Given the description of an element on the screen output the (x, y) to click on. 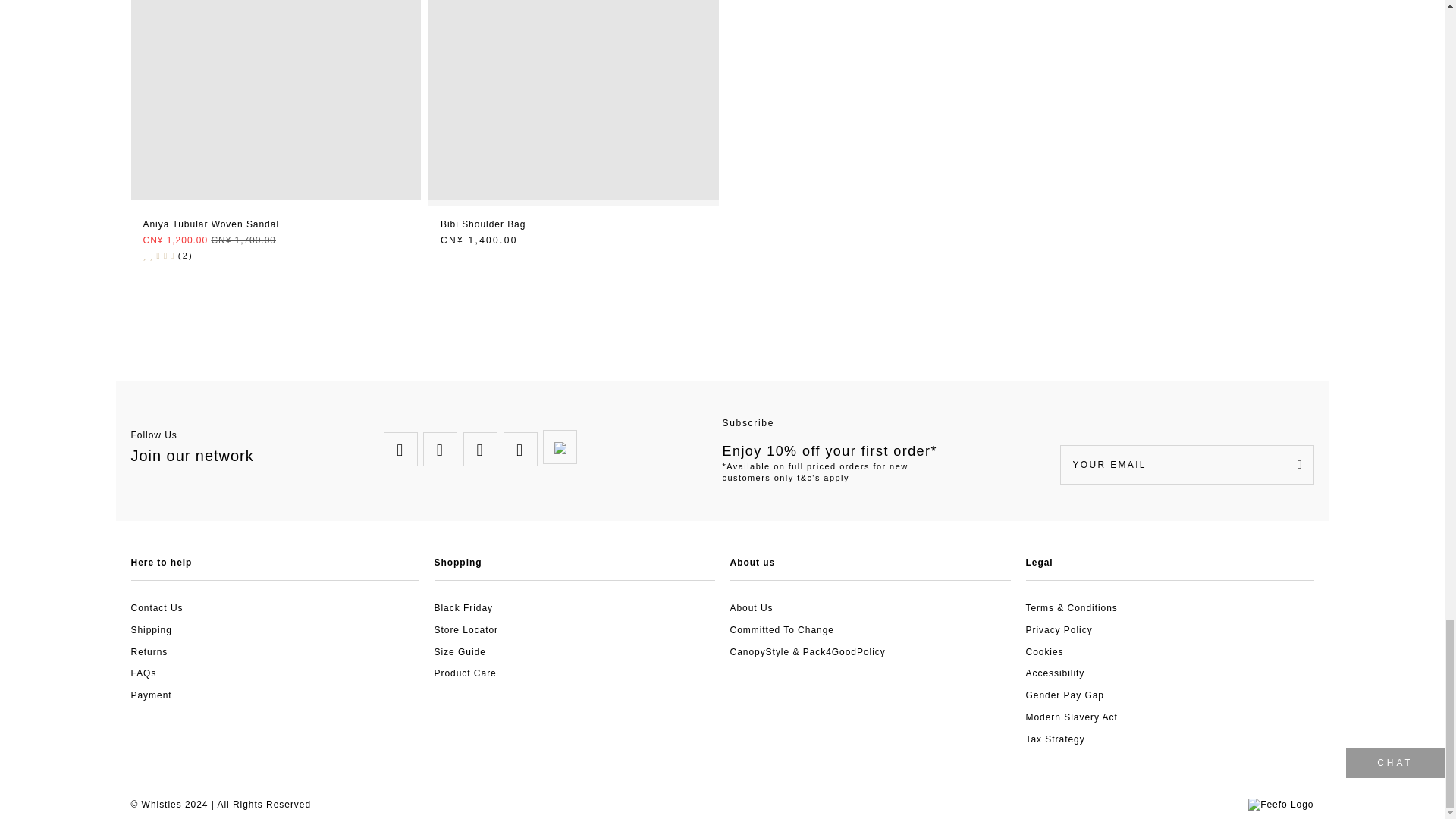
Add to Bag (573, 226)
Our customer Feefo rating (1280, 804)
Add to Bag (275, 226)
